Given the description of an element on the screen output the (x, y) to click on. 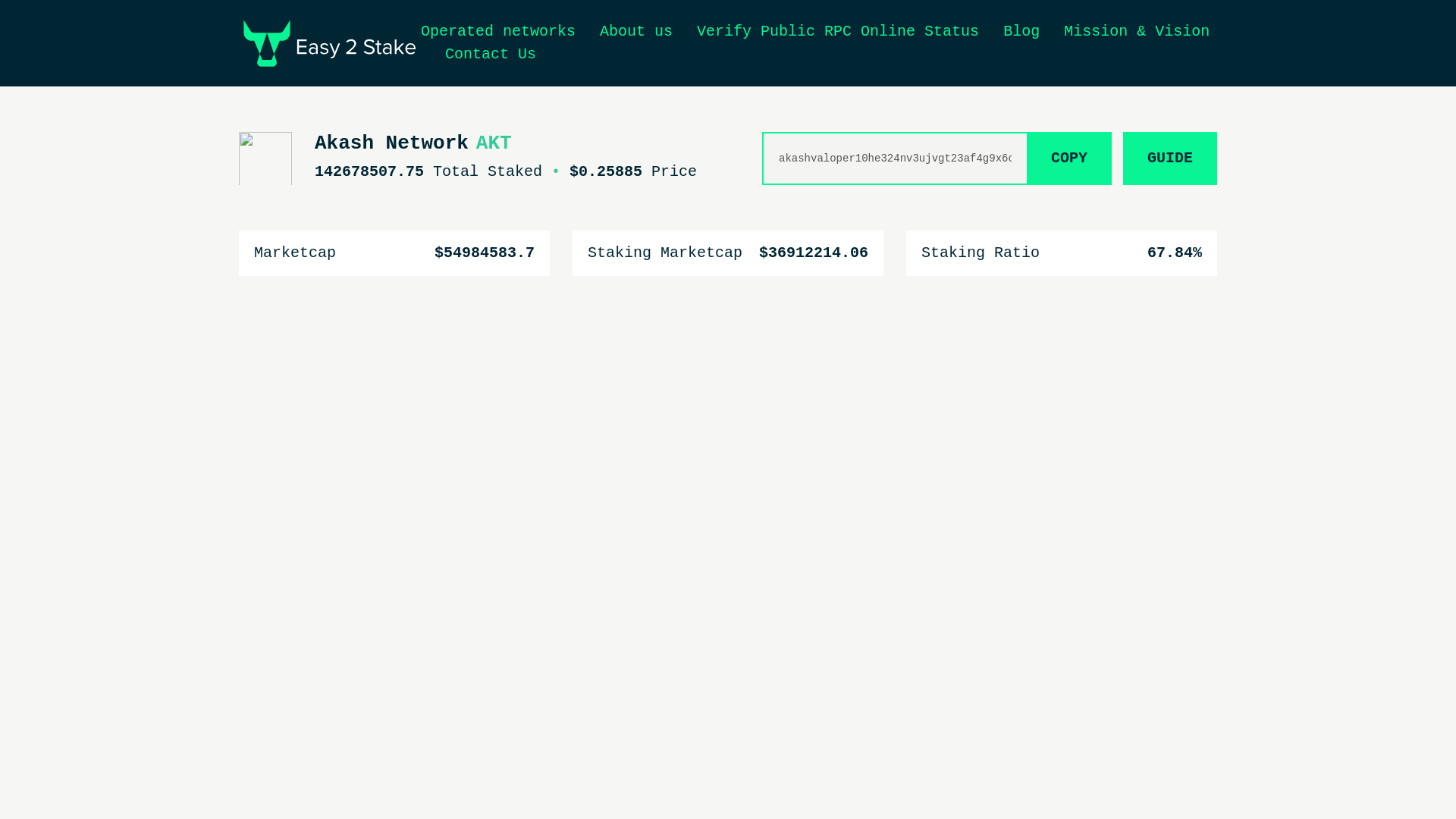
Blog (1021, 31)
COPY (1069, 158)
GUIDE (1164, 158)
Operated networks (497, 31)
Contact Us (490, 54)
GUIDE (1169, 158)
akashvaloper10he324nv3ujvgt23af4g9x6cs6lwz9nez5c24a (893, 158)
About us (635, 31)
Verify Public RPC Online Status (837, 31)
